Given the description of an element on the screen output the (x, y) to click on. 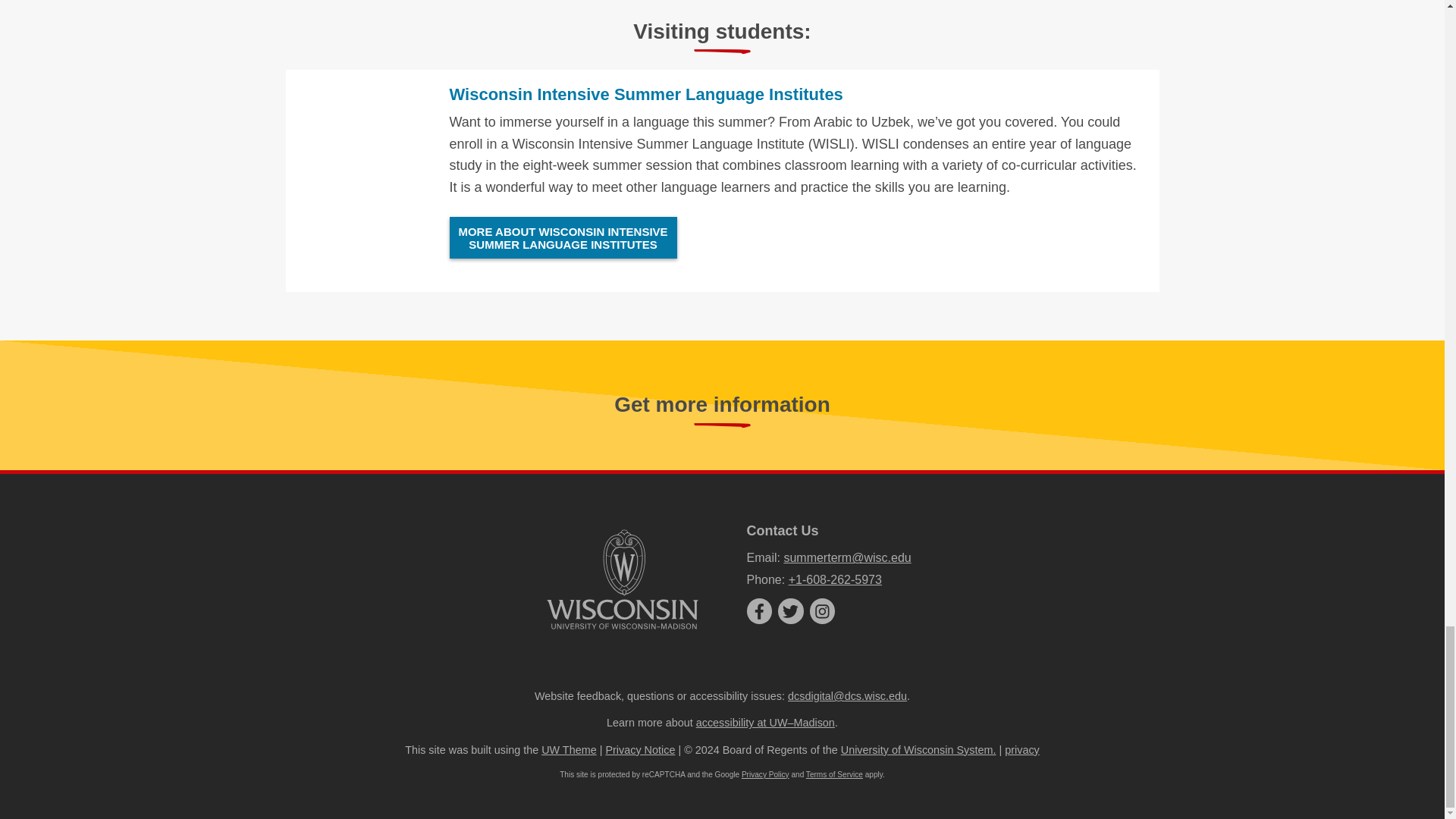
instagram (821, 611)
facebook (759, 611)
University logo that links to main university website (621, 579)
twitter (790, 611)
